Given the description of an element on the screen output the (x, y) to click on. 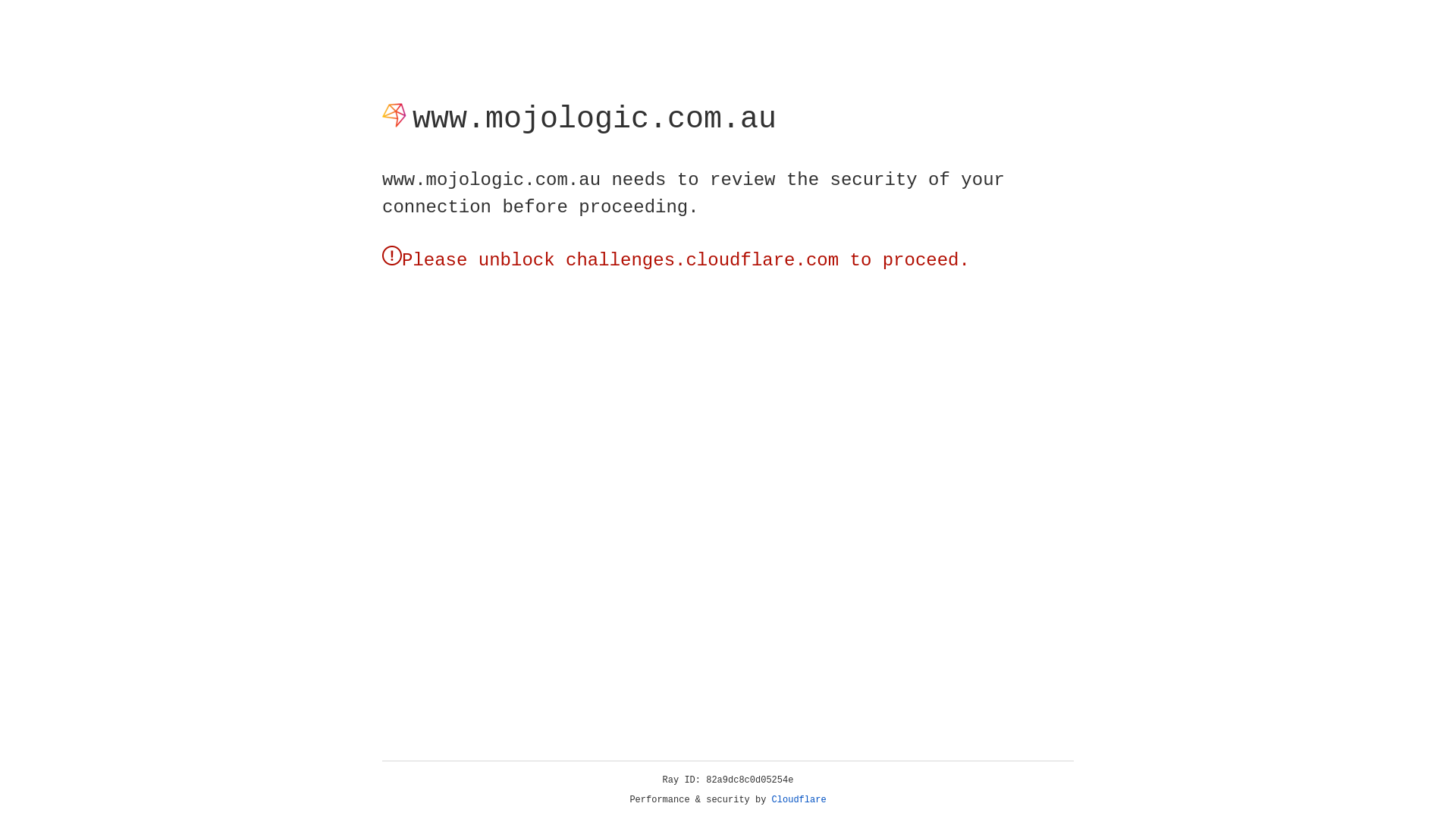
Cloudflare Element type: text (798, 799)
